Given the description of an element on the screen output the (x, y) to click on. 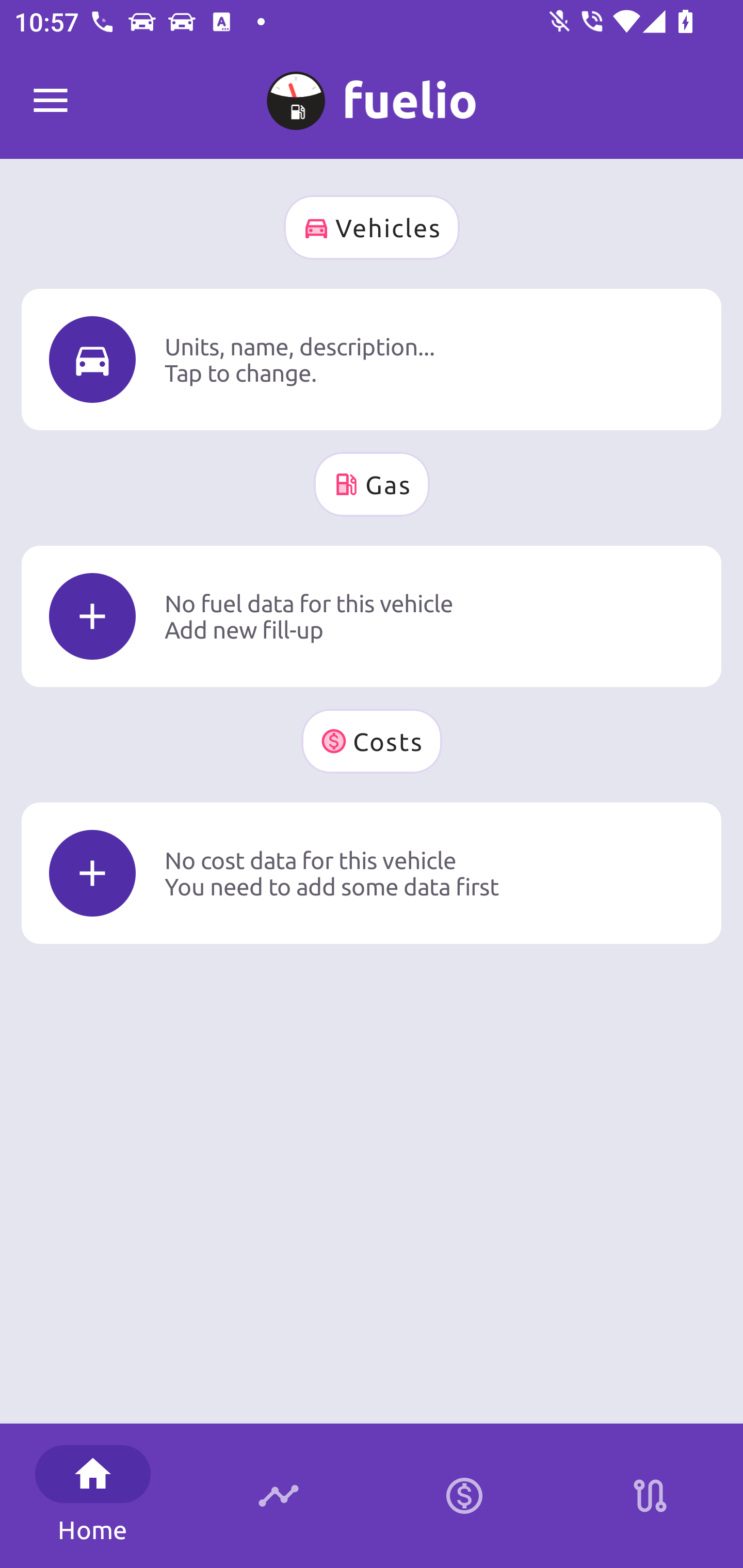
M My Car 0 km (371, 92)
Fuelio (50, 101)
Vehicles (371, 227)
Icon Units, name, description...
Tap to change. (371, 358)
Icon (92, 359)
Gas (371, 484)
Icon No fuel data for this vehicle
Add new fill-up (371, 615)
Icon (92, 616)
Costs (371, 740)
Icon (92, 873)
Timeline (278, 1495)
Calculator (464, 1495)
Stations on route (650, 1495)
